Given the description of an element on the screen output the (x, y) to click on. 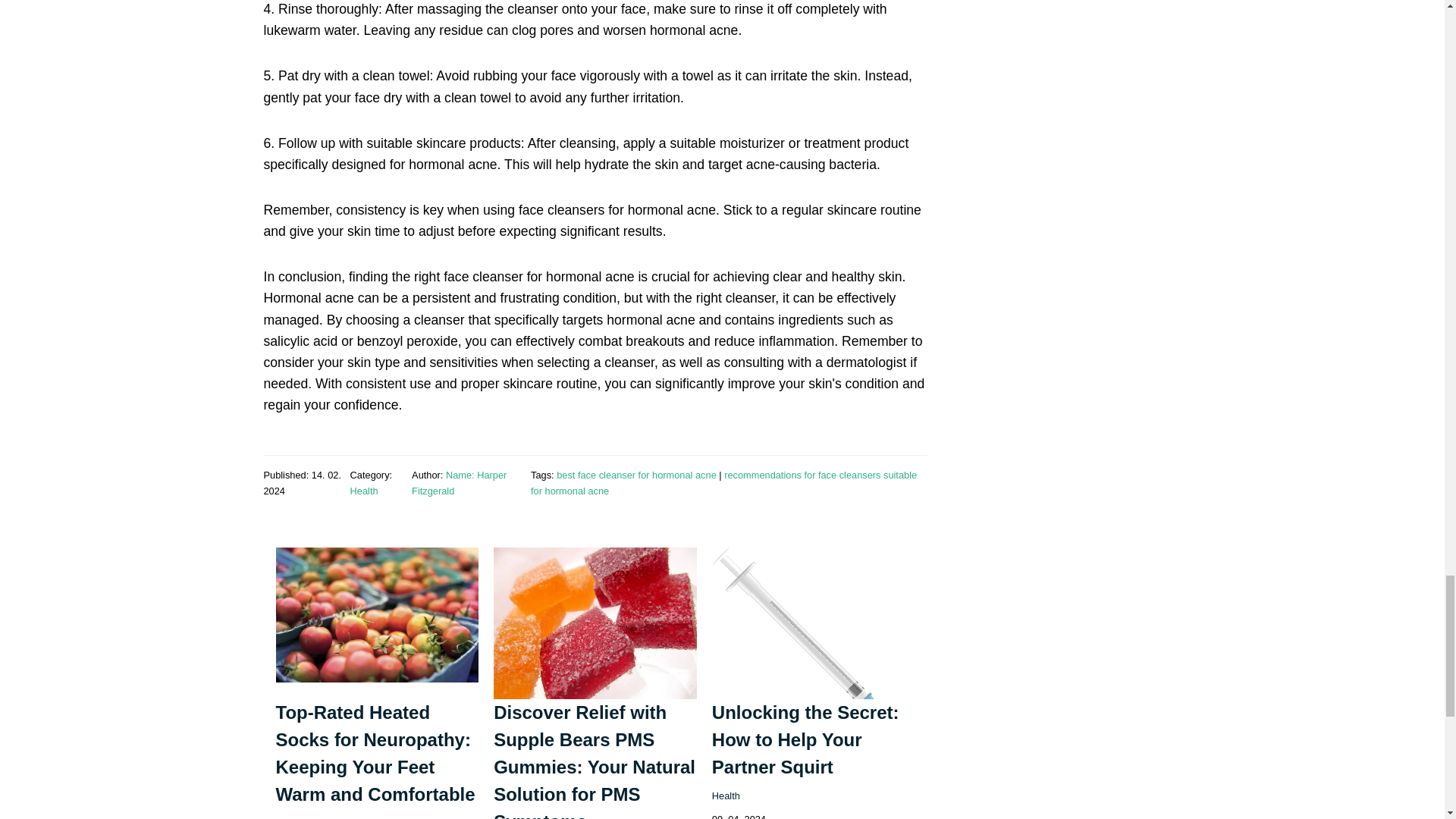
Health (364, 490)
Health (290, 818)
Name: Harper Fitzgerald (459, 482)
Unlocking the Secret: How to Help Your Partner Squirt (805, 739)
best face cleanser for hormonal acne (636, 474)
Health (725, 795)
